Given the description of an element on the screen output the (x, y) to click on. 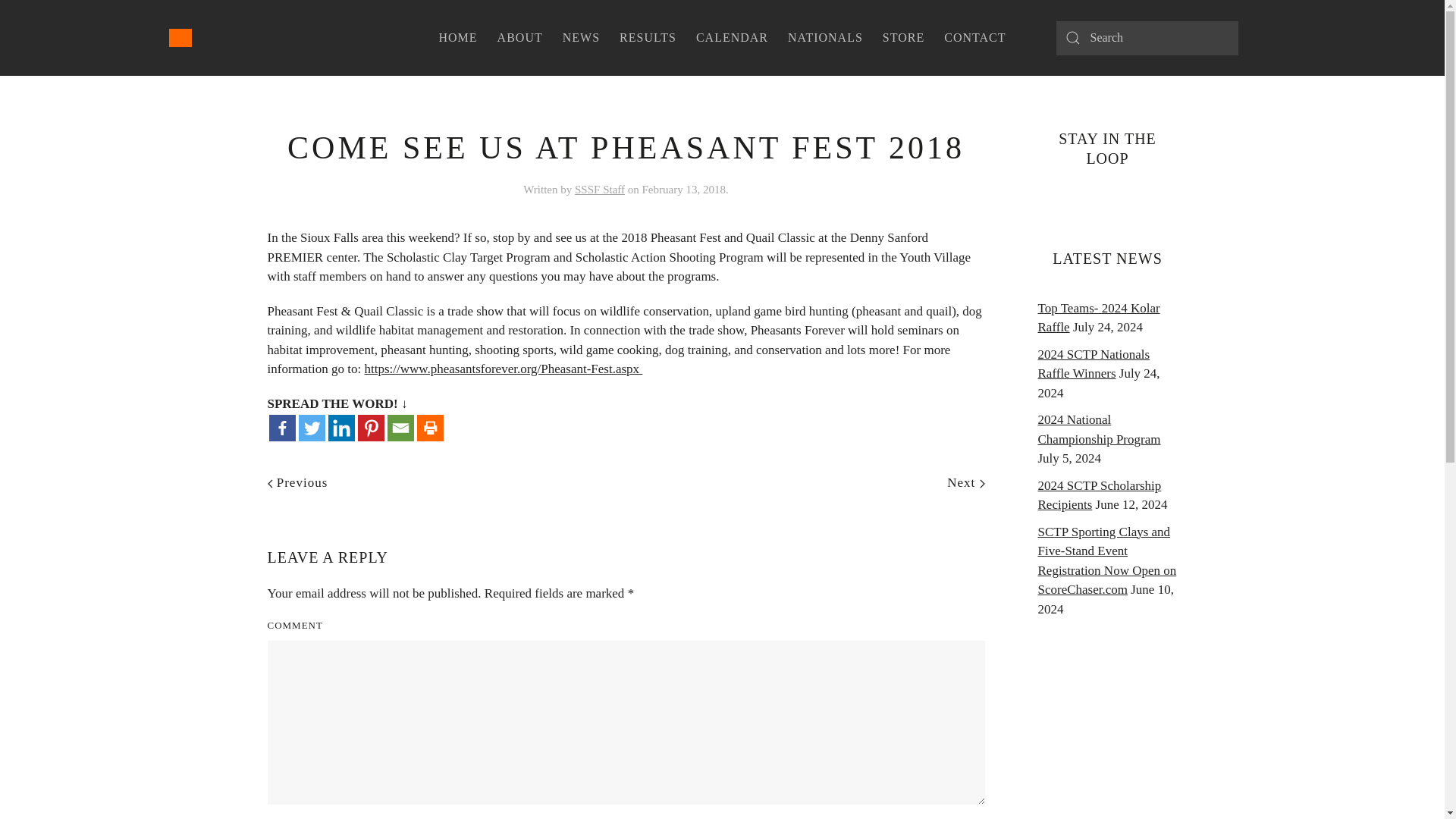
CONTACT (974, 38)
SSSF Staff (599, 189)
Twitter (311, 427)
Facebook (281, 427)
Print (430, 427)
CALENDAR (731, 38)
RESULTS (647, 38)
Pinterest (371, 427)
Email (400, 427)
Linkedin (340, 427)
NATIONALS (824, 38)
